Given the description of an element on the screen output the (x, y) to click on. 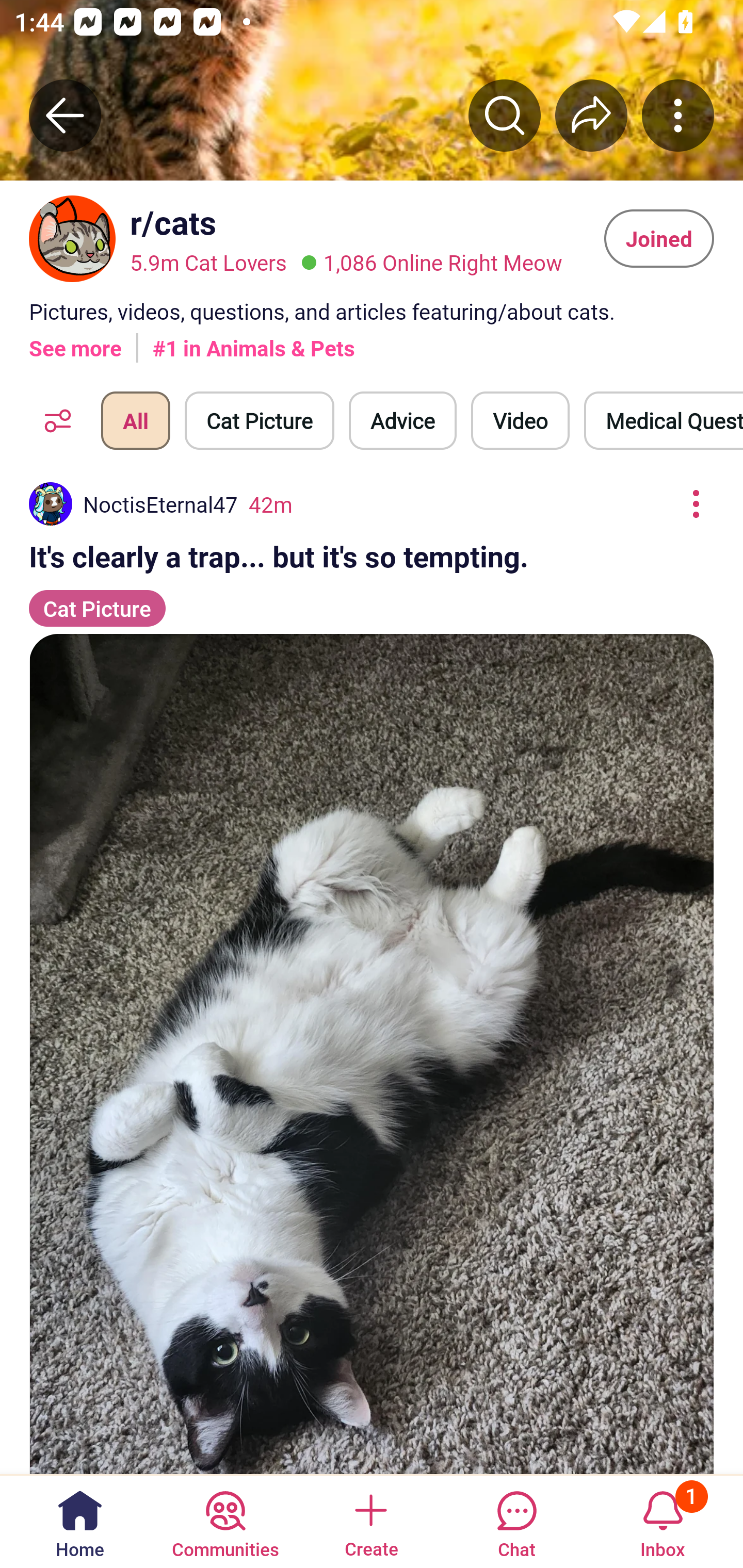
Back (64, 115)
Search r/﻿cats (504, 115)
Share r/﻿cats (591, 115)
More community actions (677, 115)
Feed Options (53, 421)
All (135, 421)
Cat Picture (259, 421)
Advice (402, 421)
Video (520, 421)
Medical Questio… (663, 421)
Cat Picture (96, 599)
Home (80, 1520)
Communities (225, 1520)
Create a post Create (370, 1520)
Chat (516, 1520)
Inbox, has 1 notification 1 Inbox (662, 1520)
